Given the description of an element on the screen output the (x, y) to click on. 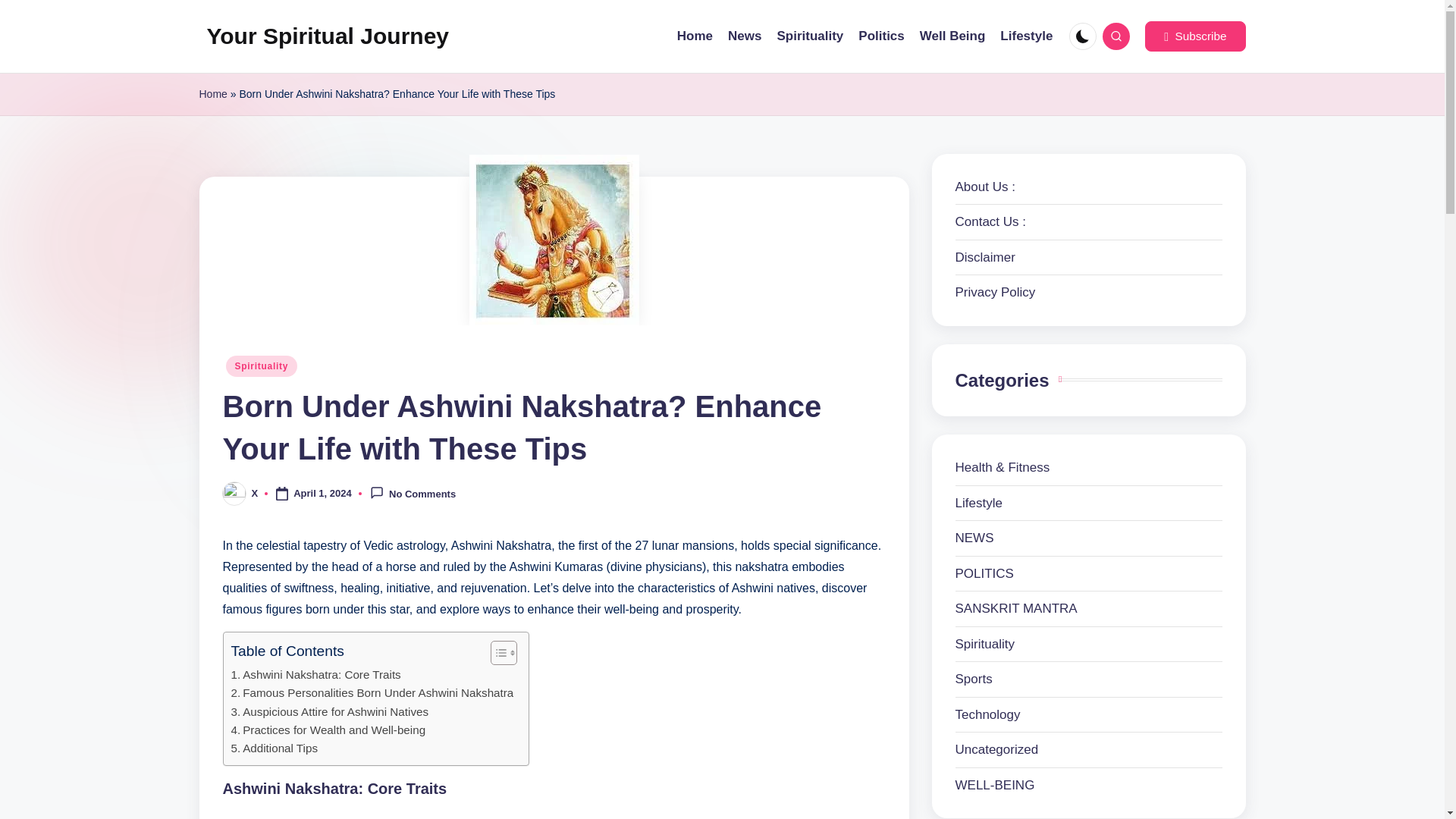
Home (695, 36)
Lifestyle (1026, 36)
Auspicious Attire for Ashwini Natives (329, 711)
Spirituality (261, 364)
Auspicious Attire for Ashwini Natives (329, 711)
Additional Tips (273, 748)
Privacy Policy (995, 292)
Politics (881, 36)
Contact Us : (990, 221)
Ashwini Nakshatra: Core Traits (315, 674)
